Given the description of an element on the screen output the (x, y) to click on. 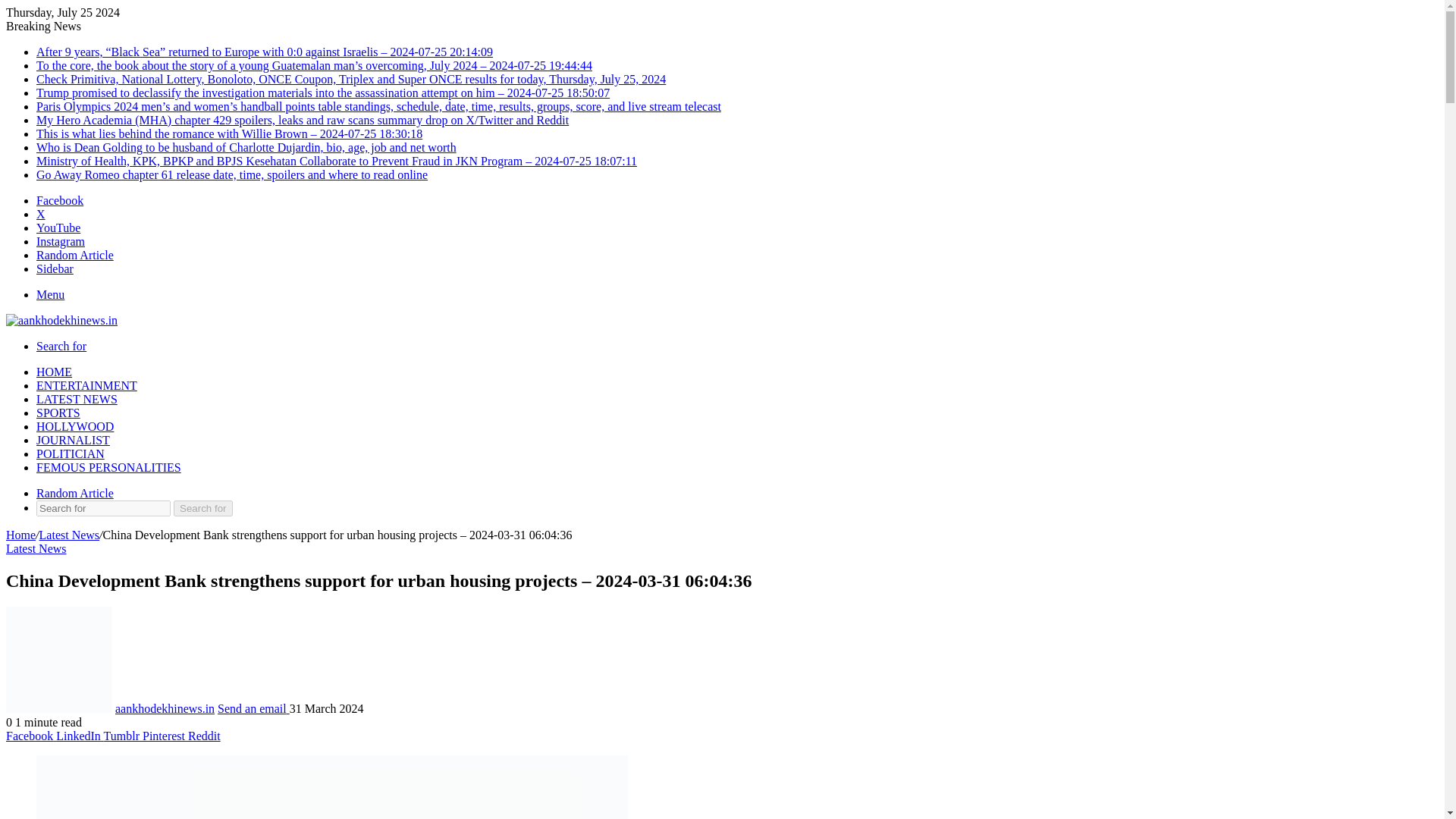
SPORTS (58, 412)
Facebook (59, 200)
aankhodekhinews.in (61, 319)
Random Article (74, 492)
Menu (50, 294)
ENTERTAINMENT (86, 385)
Random Article (74, 492)
POLITICIAN (70, 453)
JOURNALIST (73, 440)
Tumblr (122, 735)
Sidebar (55, 268)
Instagram (60, 241)
Random Article (74, 254)
Search for (103, 508)
